Given the description of an element on the screen output the (x, y) to click on. 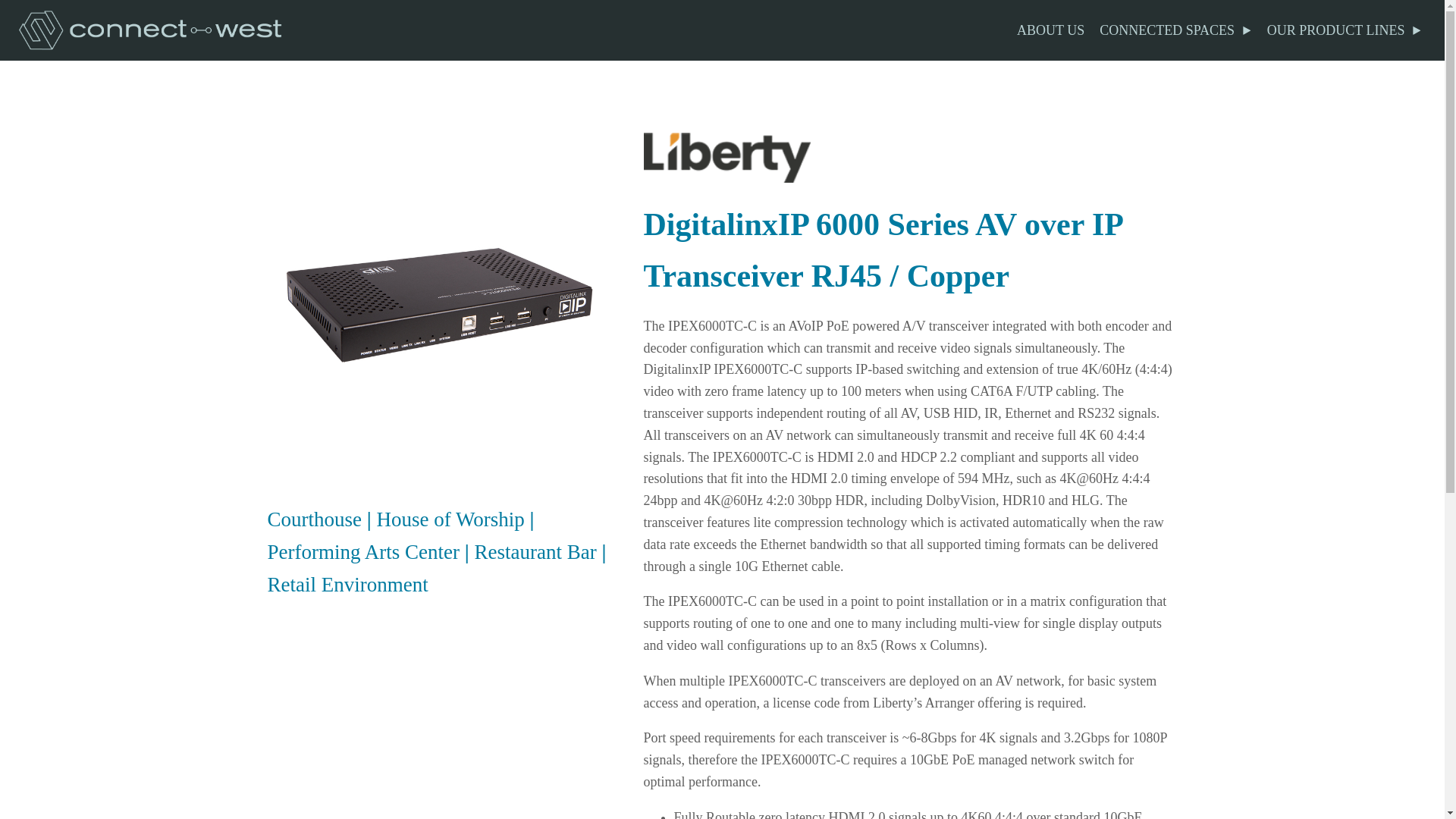
ABOUT US (1050, 30)
Courthouse (313, 518)
CONNECTED SPACES (1174, 30)
Restaurant Bar (534, 551)
OUR PRODUCT LINES (1344, 30)
Performing Arts Center (362, 551)
Retail Environment (347, 584)
House of Worship (449, 518)
